Given the description of an element on the screen output the (x, y) to click on. 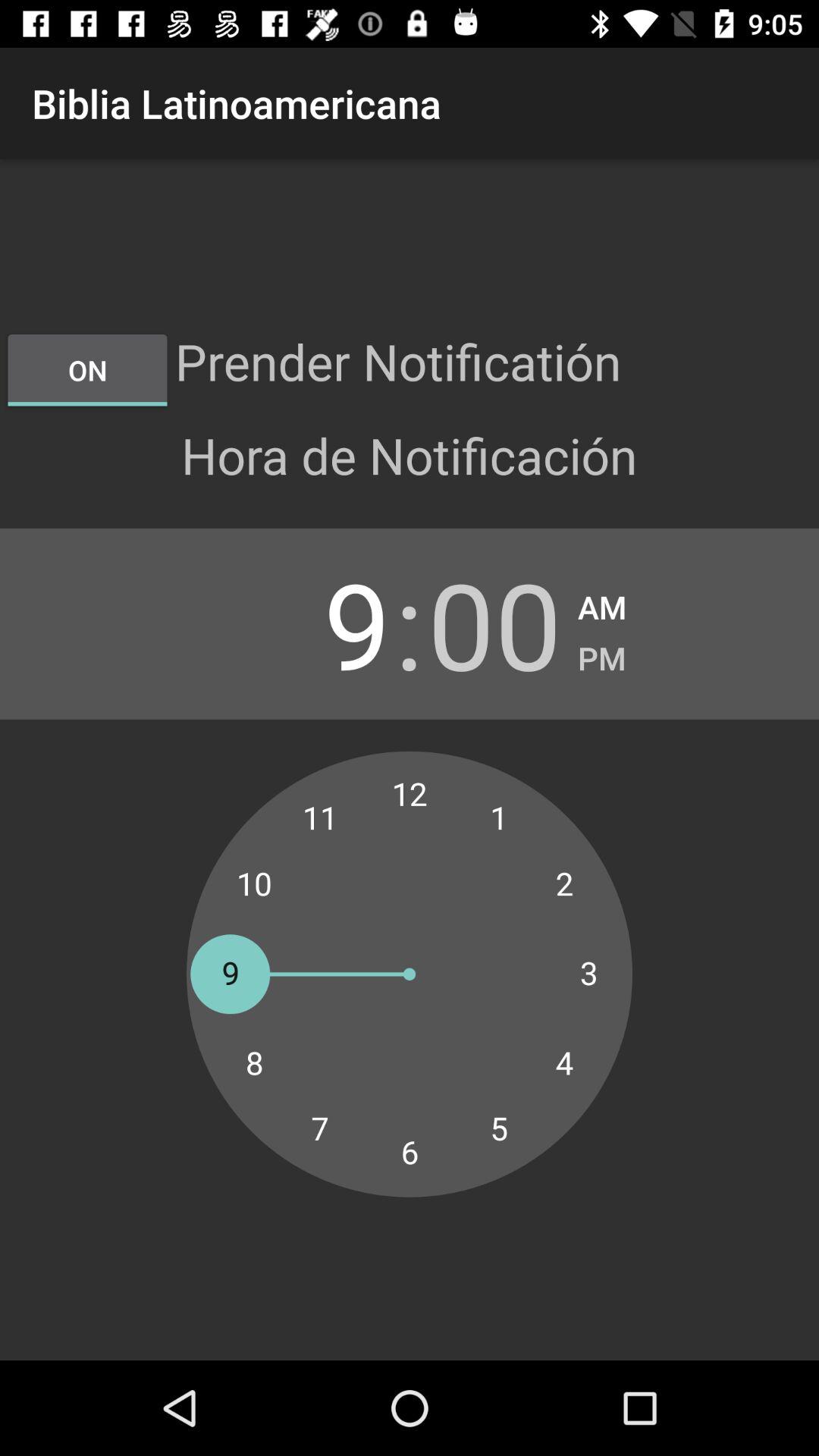
turn on checkbox below the am (601, 653)
